Given the description of an element on the screen output the (x, y) to click on. 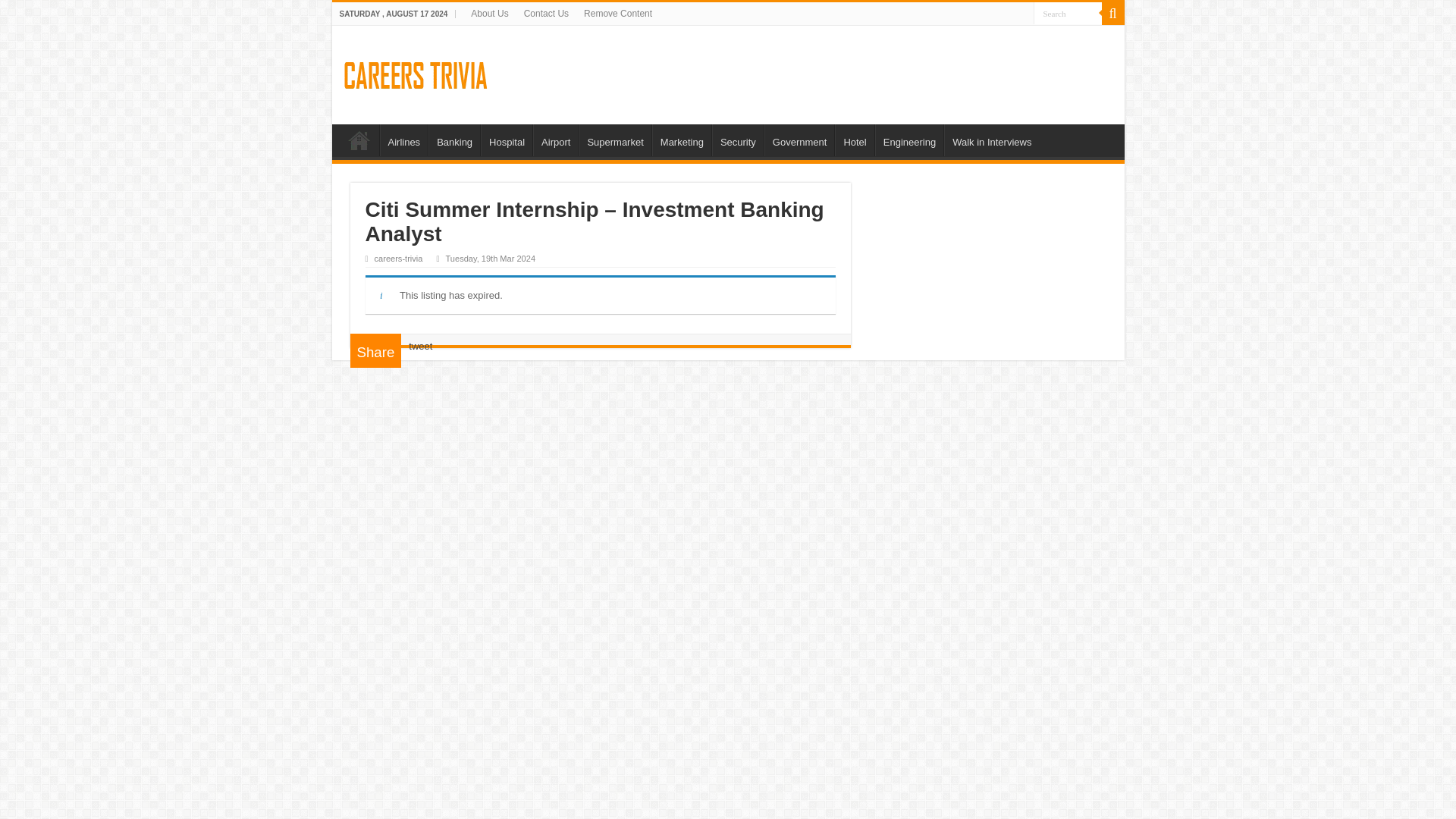
Government (799, 140)
Engineering (909, 140)
Search (1066, 13)
Supermarket (614, 140)
Airlines (403, 140)
careers-trivia (398, 257)
Walk in Interviews (991, 140)
Search (1066, 13)
Marketing (681, 140)
Remove Content (617, 13)
